Given the description of an element on the screen output the (x, y) to click on. 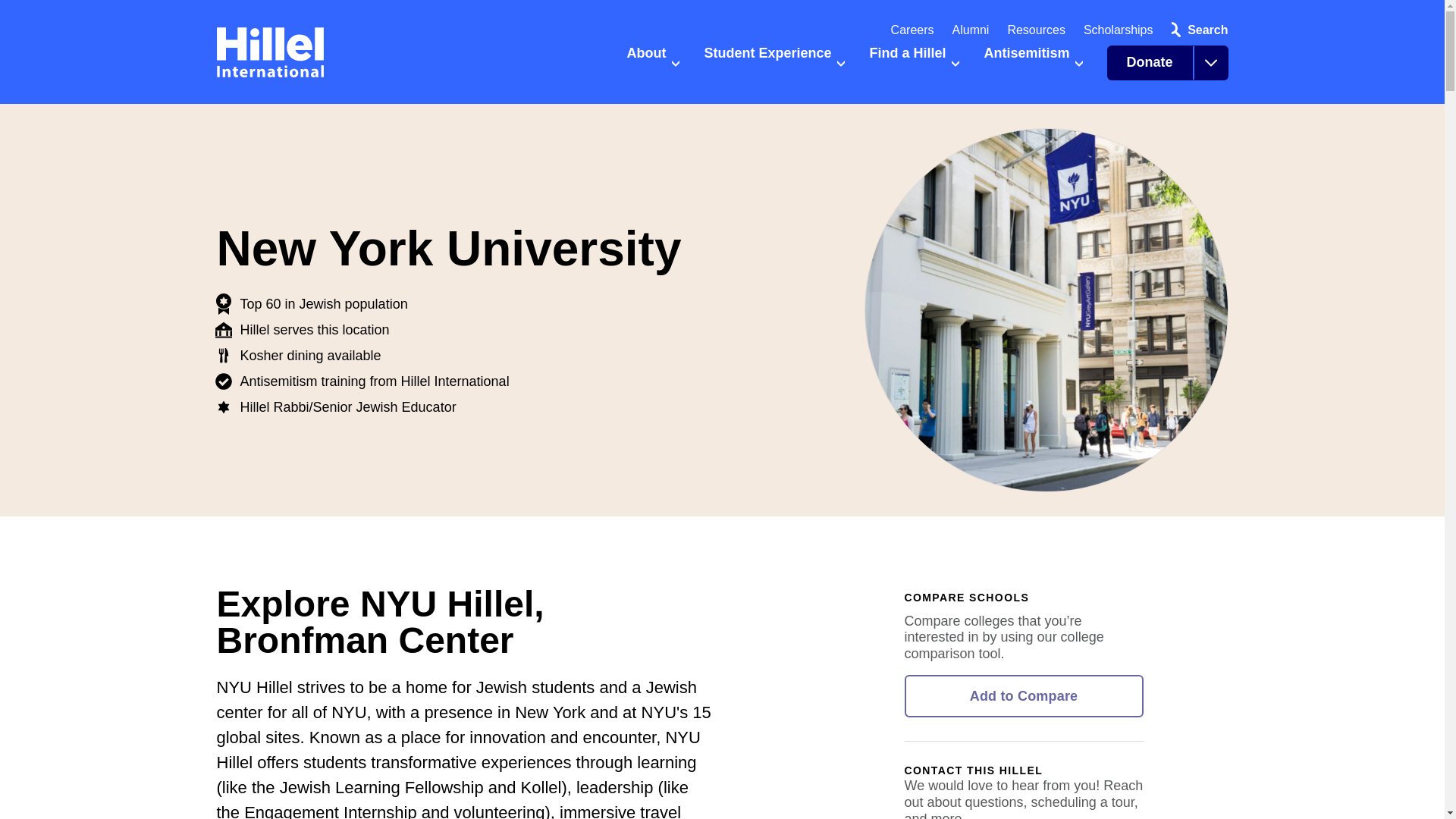
Resources (1035, 29)
Scholarships (1118, 29)
Careers (912, 29)
Search (1195, 30)
Find a Hillel (914, 69)
Student Experience (773, 69)
About (652, 69)
Alumni (971, 29)
Open for more actions (1209, 62)
Antisemitism (1033, 69)
